Given the description of an element on the screen output the (x, y) to click on. 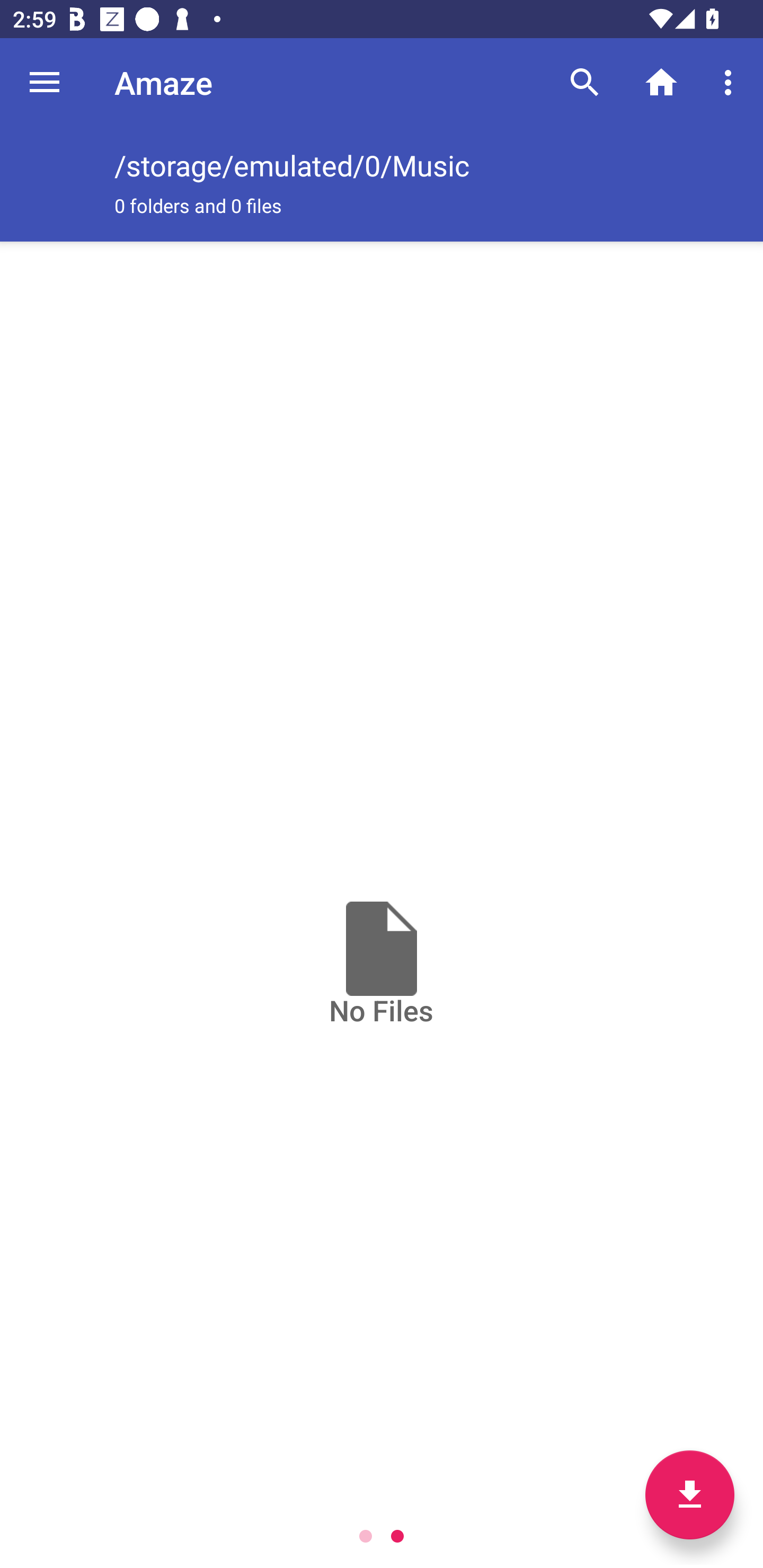
Navigate up (44, 82)
Search (585, 81)
Home (661, 81)
More options (731, 81)
